Given the description of an element on the screen output the (x, y) to click on. 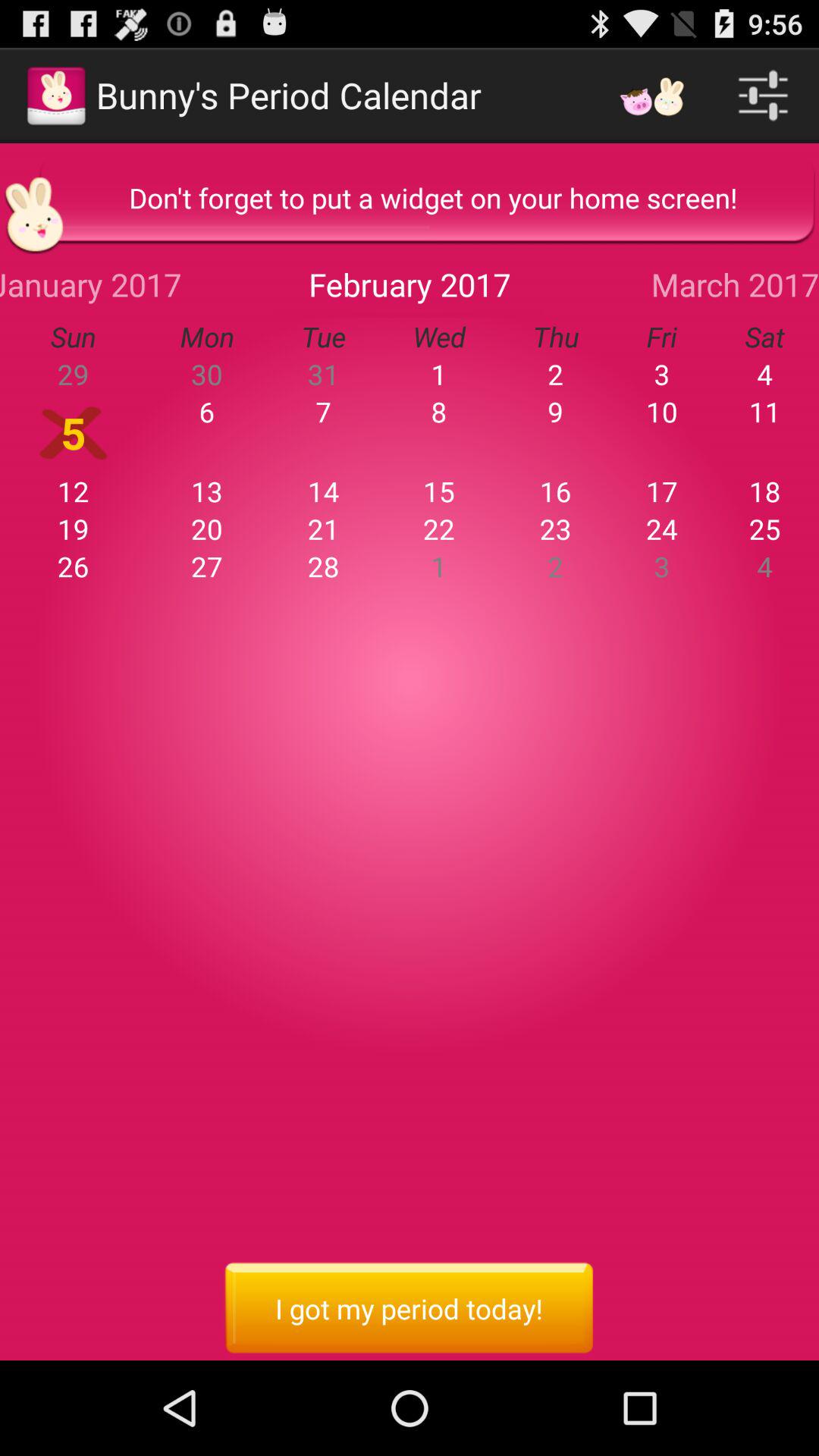
press item next to the 17 item (555, 528)
